Given the description of an element on the screen output the (x, y) to click on. 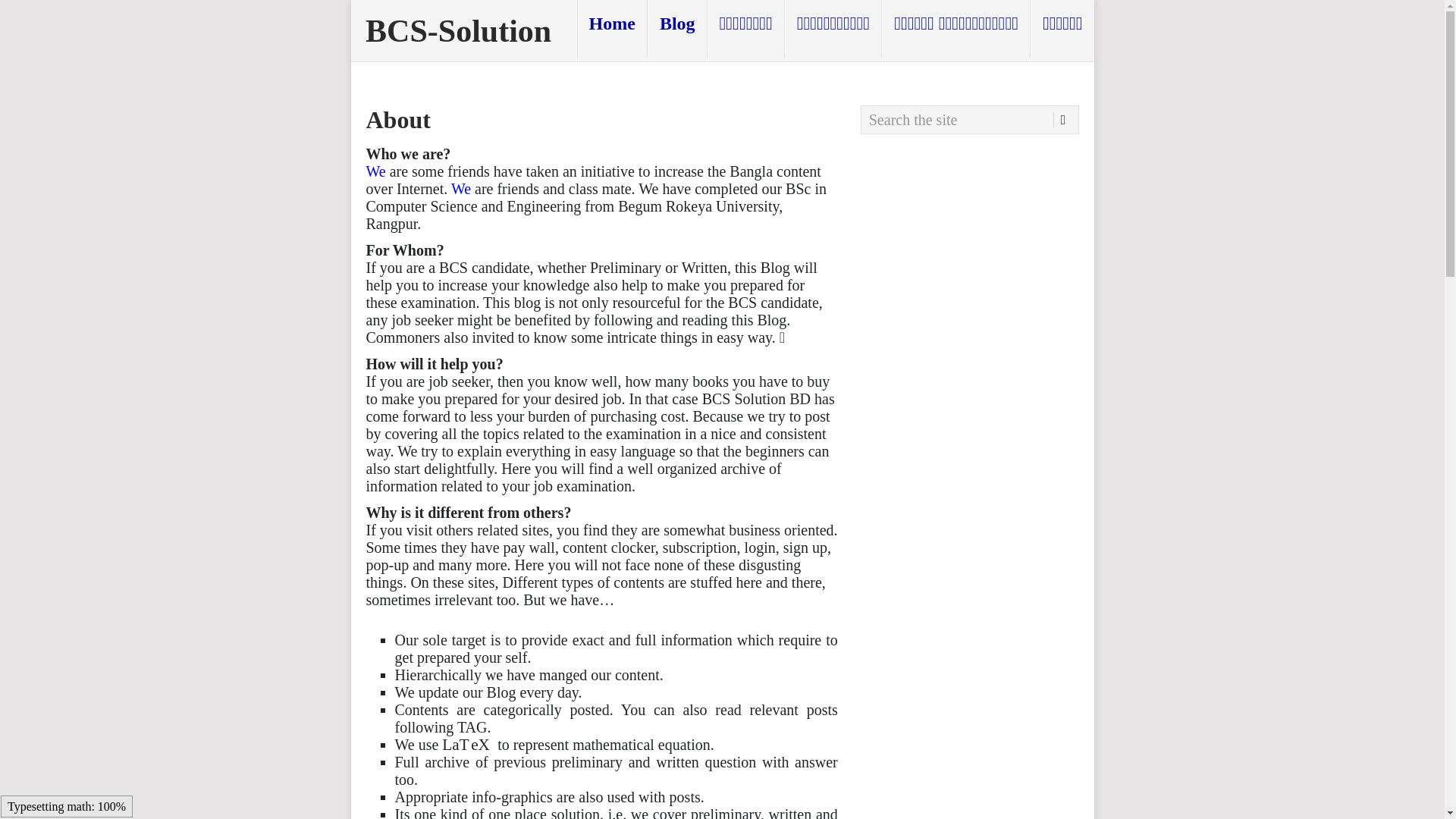
Blog (677, 28)
Home (611, 28)
We (460, 188)
We (375, 170)
Advertisement (969, 735)
Search the site (969, 119)
BCS-Solution (458, 30)
